Given the description of an element on the screen output the (x, y) to click on. 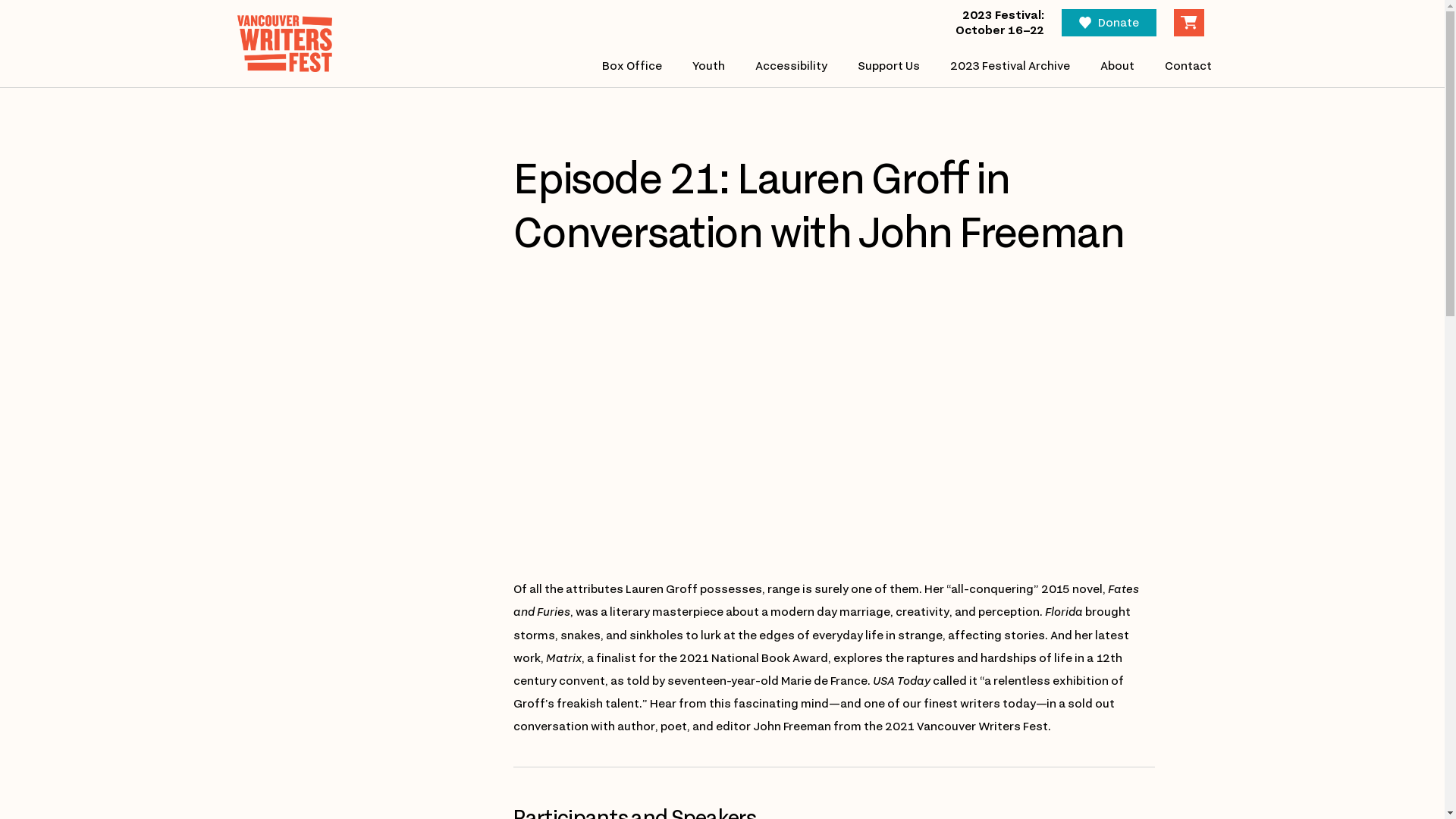
Cart Element type: text (1188, 22)
About Element type: text (1117, 66)
Donate Element type: text (1108, 22)
Contact Element type: text (1188, 66)
2023 Festival Archive Element type: text (1009, 66)
Support Us Element type: text (888, 66)
Box Office Element type: text (631, 66)
Accessibility Element type: text (791, 66)
Youth Element type: text (708, 66)
